Given the description of an element on the screen output the (x, y) to click on. 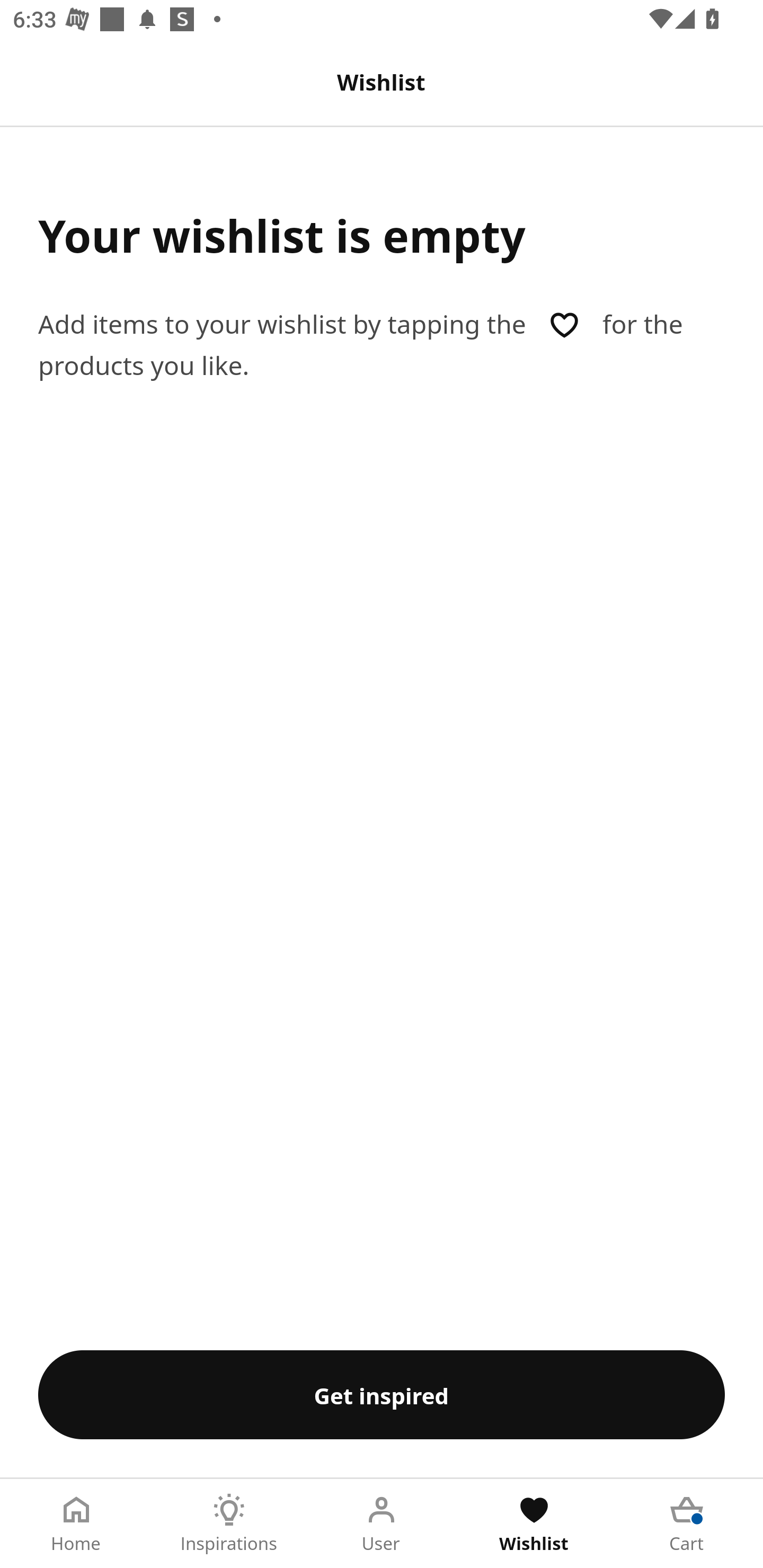
Get inspired (381, 1394)
Home
Tab 1 of 5 (76, 1522)
Inspirations
Tab 2 of 5 (228, 1522)
User
Tab 3 of 5 (381, 1522)
Wishlist
Tab 4 of 5 (533, 1522)
Cart
Tab 5 of 5 (686, 1522)
